Given the description of an element on the screen output the (x, y) to click on. 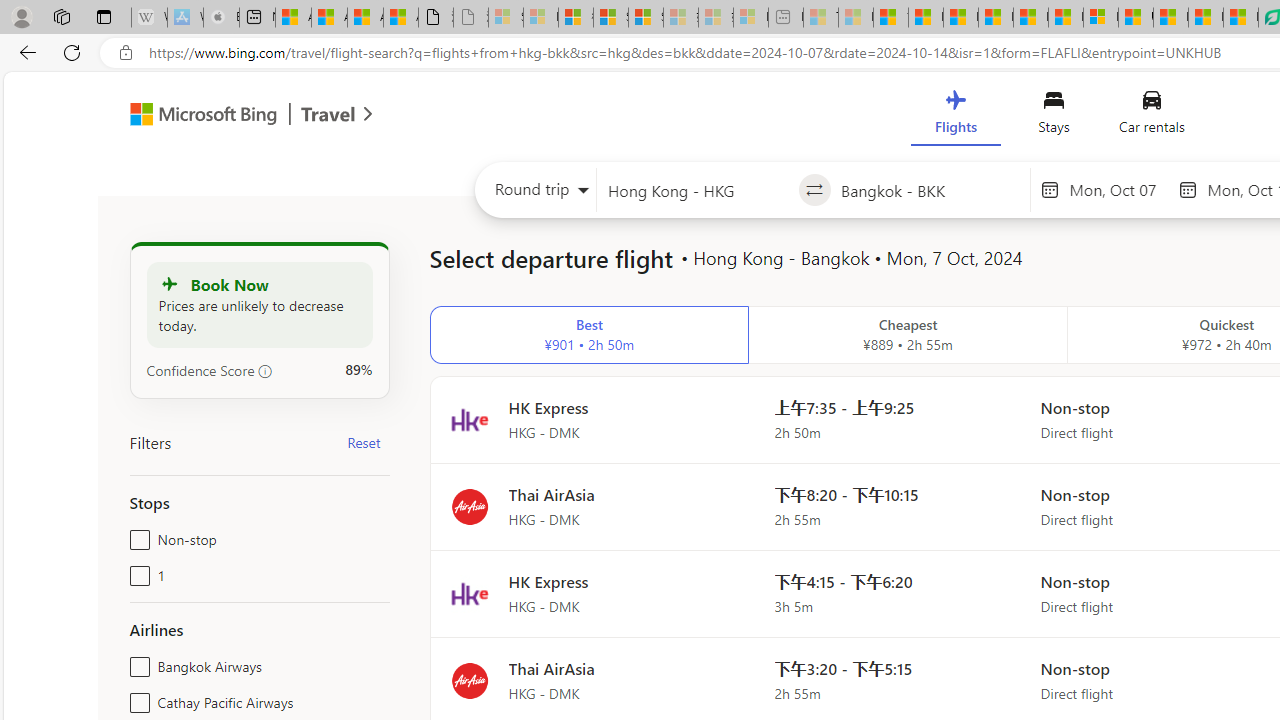
Flight logo (469, 680)
Flights (955, 116)
Class: msft-bing-logo msft-bing-logo-desktop (198, 114)
Sign in to your Microsoft account - Sleeping (506, 17)
Marine life - MSN - Sleeping (855, 17)
Buy iPad - Apple - Sleeping (221, 17)
Non-stop (136, 535)
Cathay Pacific Airways (136, 698)
